Given the description of an element on the screen output the (x, y) to click on. 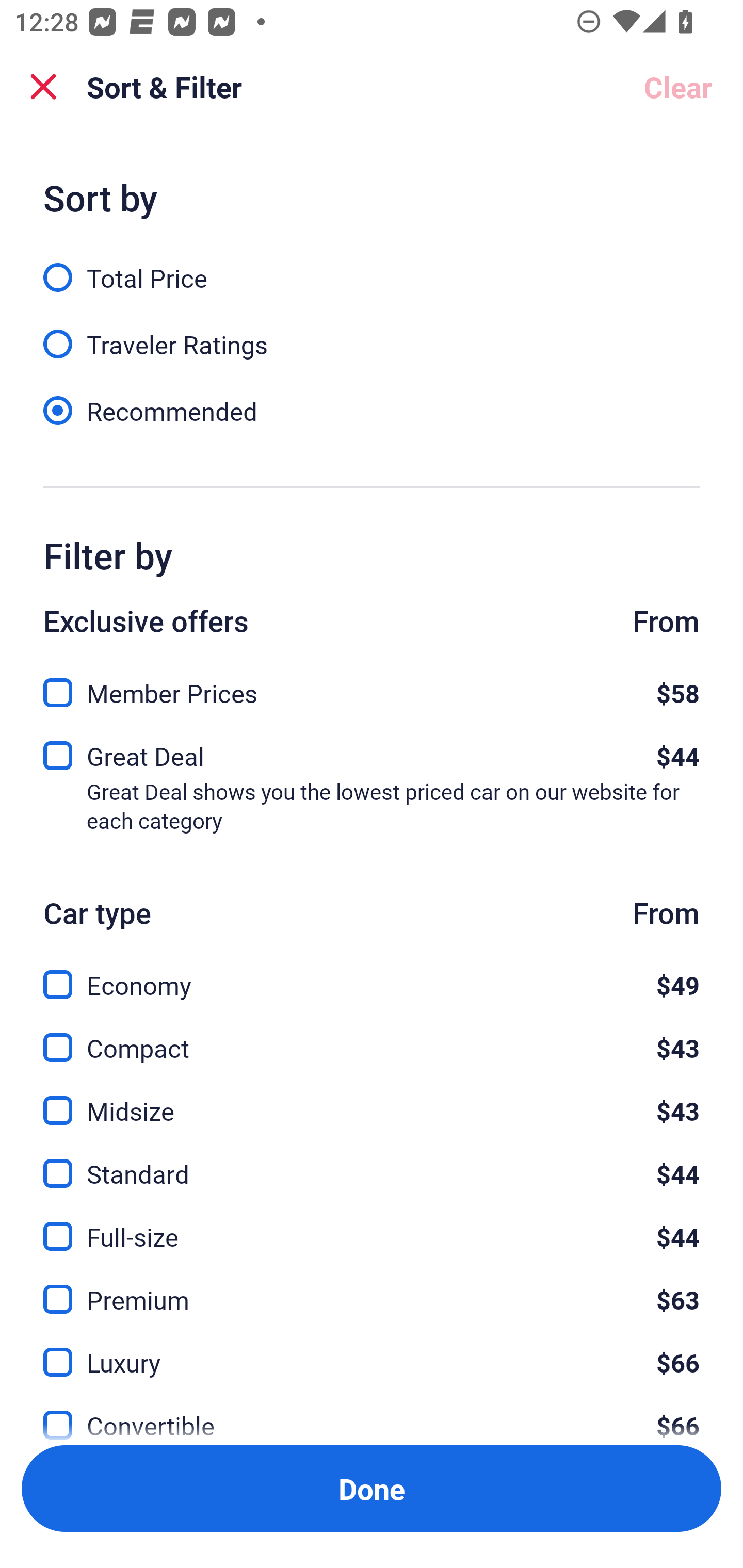
Close Sort and Filter (43, 86)
Clear (677, 86)
Total Price (371, 266)
Traveler Ratings (371, 332)
Member Prices, $58 Member Prices $58 (371, 686)
Economy, $49 Economy $49 (371, 973)
Compact, $43 Compact $43 (371, 1036)
Midsize, $43 Midsize $43 (371, 1098)
Standard, $44 Standard $44 (371, 1161)
Full-size, $44 Full-size $44 (371, 1224)
Premium, $63 Premium $63 (371, 1286)
Luxury, $66 Luxury $66 (371, 1350)
Convertible, $66 Convertible $66 (371, 1413)
Apply and close Sort and Filter Done (371, 1488)
